Given the description of an element on the screen output the (x, y) to click on. 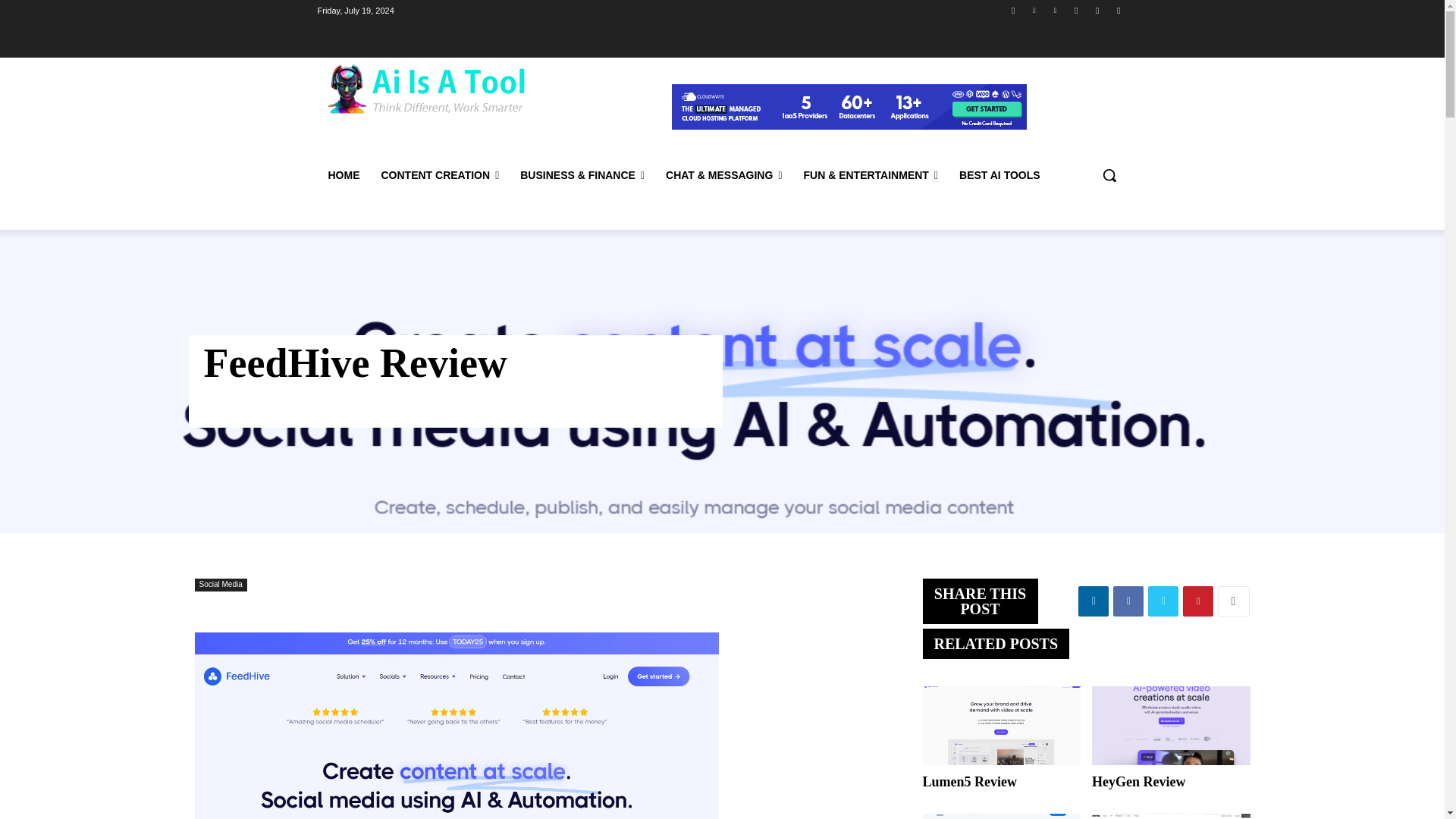
TikTok (1075, 9)
Facebook (1013, 9)
The Ultimate Managed Hosting Platform (848, 106)
Youtube (1117, 9)
Twitter (1097, 9)
Pinterest (1055, 9)
Linkedin (1034, 9)
